Given the description of an element on the screen output the (x, y) to click on. 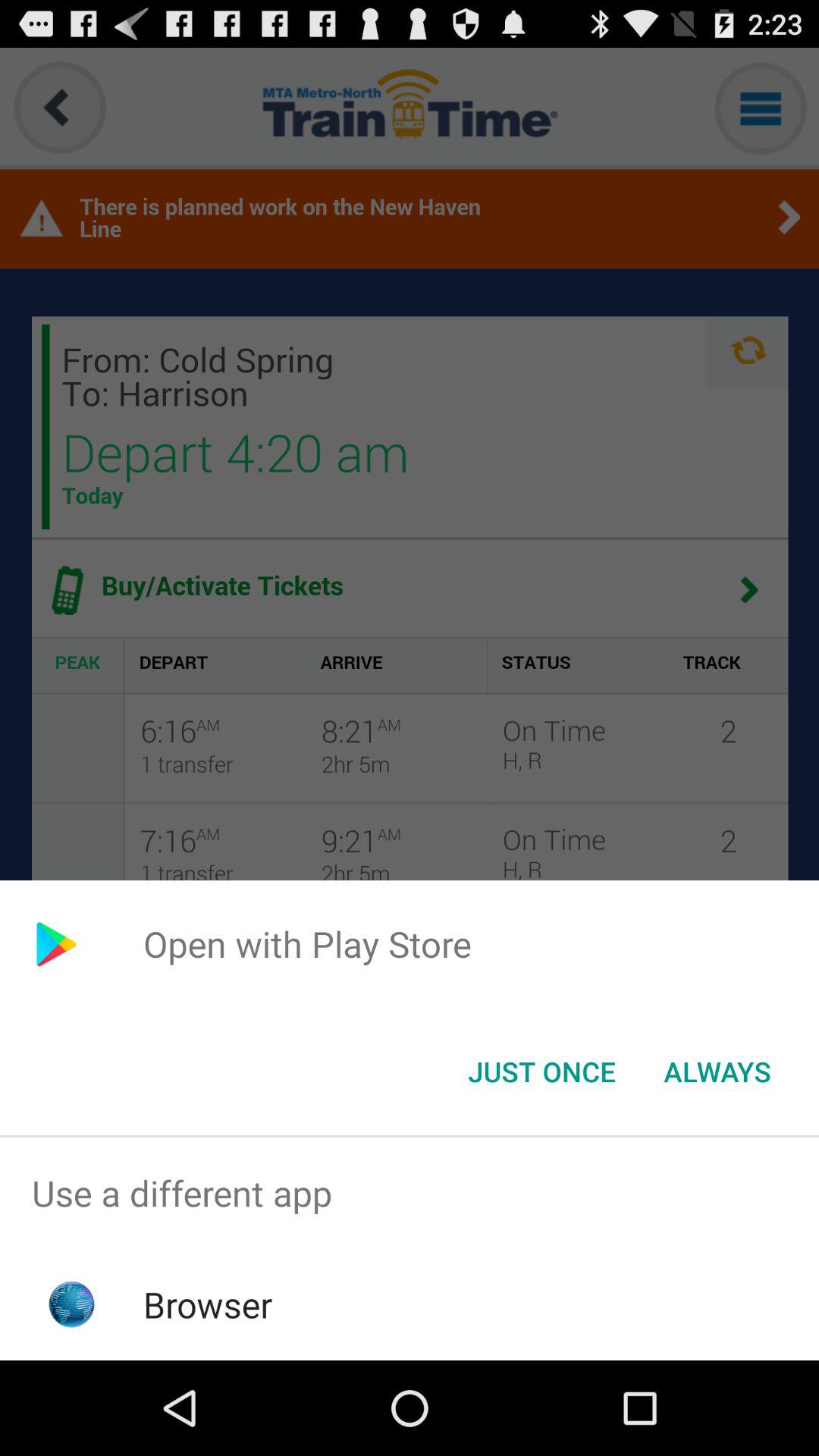
jump until the just once button (541, 1071)
